Given the description of an element on the screen output the (x, y) to click on. 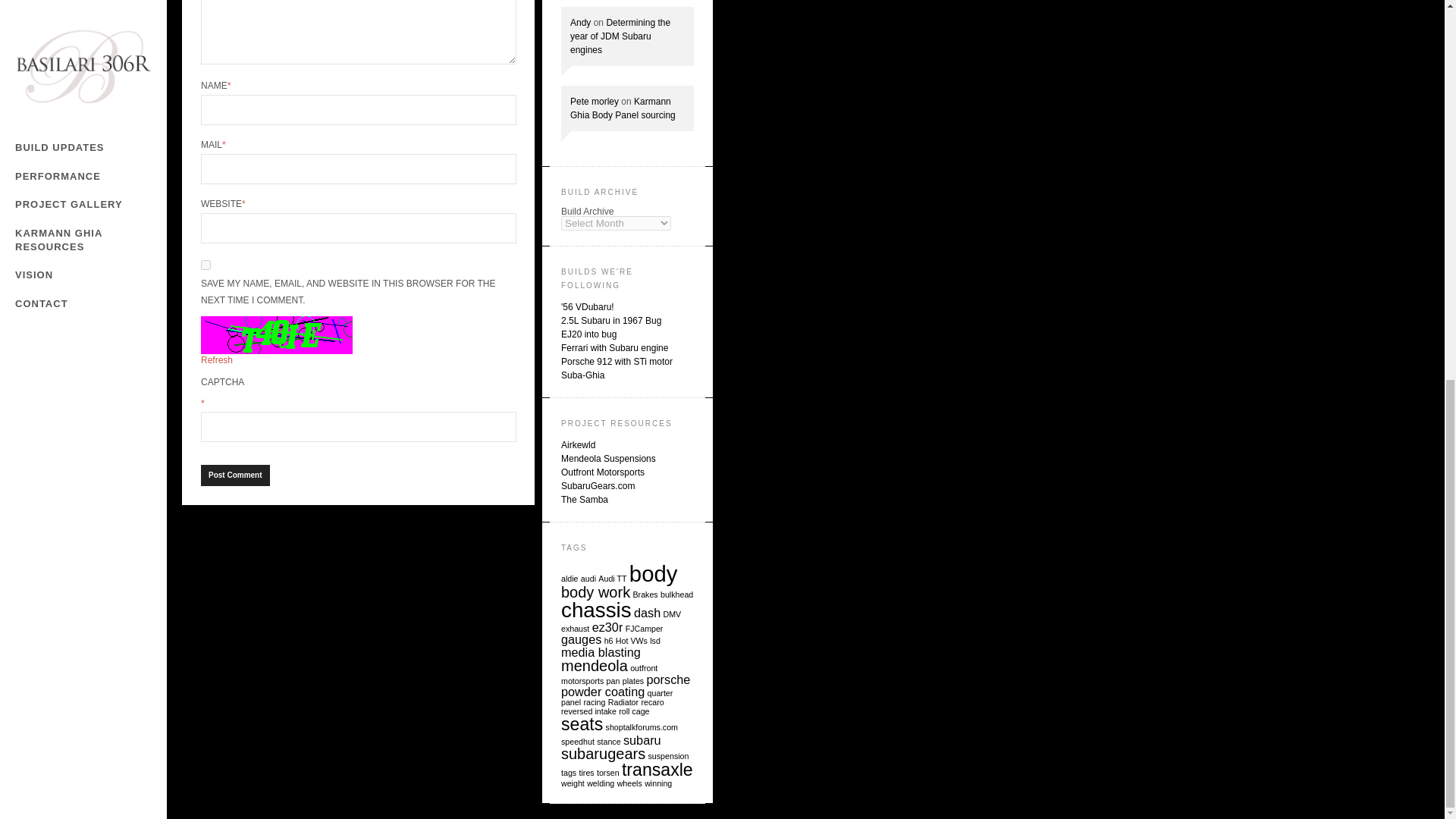
1976 Ferrari 308 GT4 with new Subura motor. (614, 347)
Click to refresh Captcha Image (276, 334)
Subaru EJ20 into a bug (587, 334)
Porsche 912 with STi motor. (616, 361)
Click to refresh Captcha Image (216, 359)
Post Comment (234, 475)
Superior Design. Superior Performance.  (608, 458)
yes (205, 265)
